Given the description of an element on the screen output the (x, y) to click on. 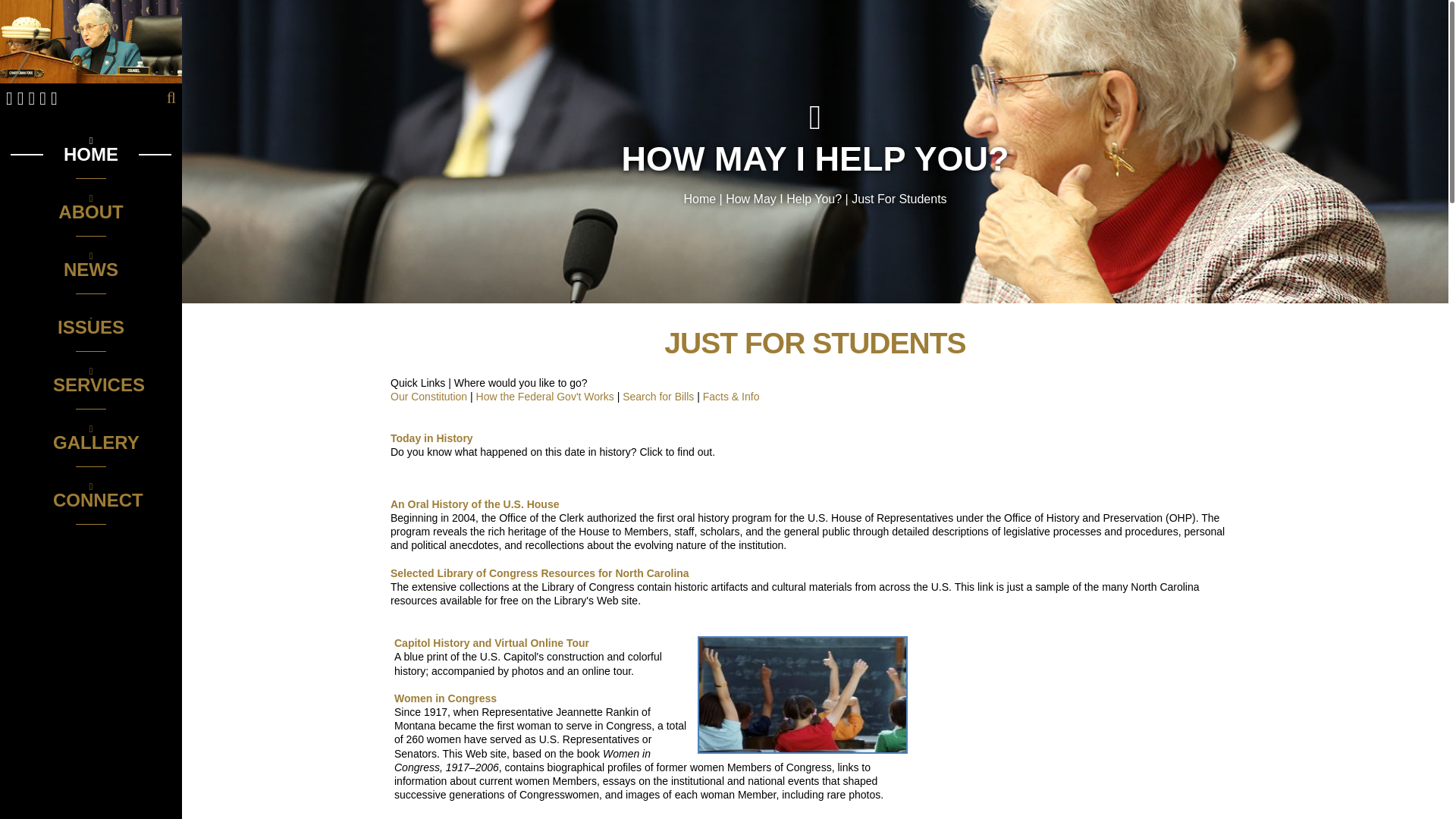
ISSUES (91, 322)
ABOUT (91, 207)
HOME (91, 149)
SERVICES (91, 379)
NEWS (91, 264)
GALLERY (91, 438)
